Given the description of an element on the screen output the (x, y) to click on. 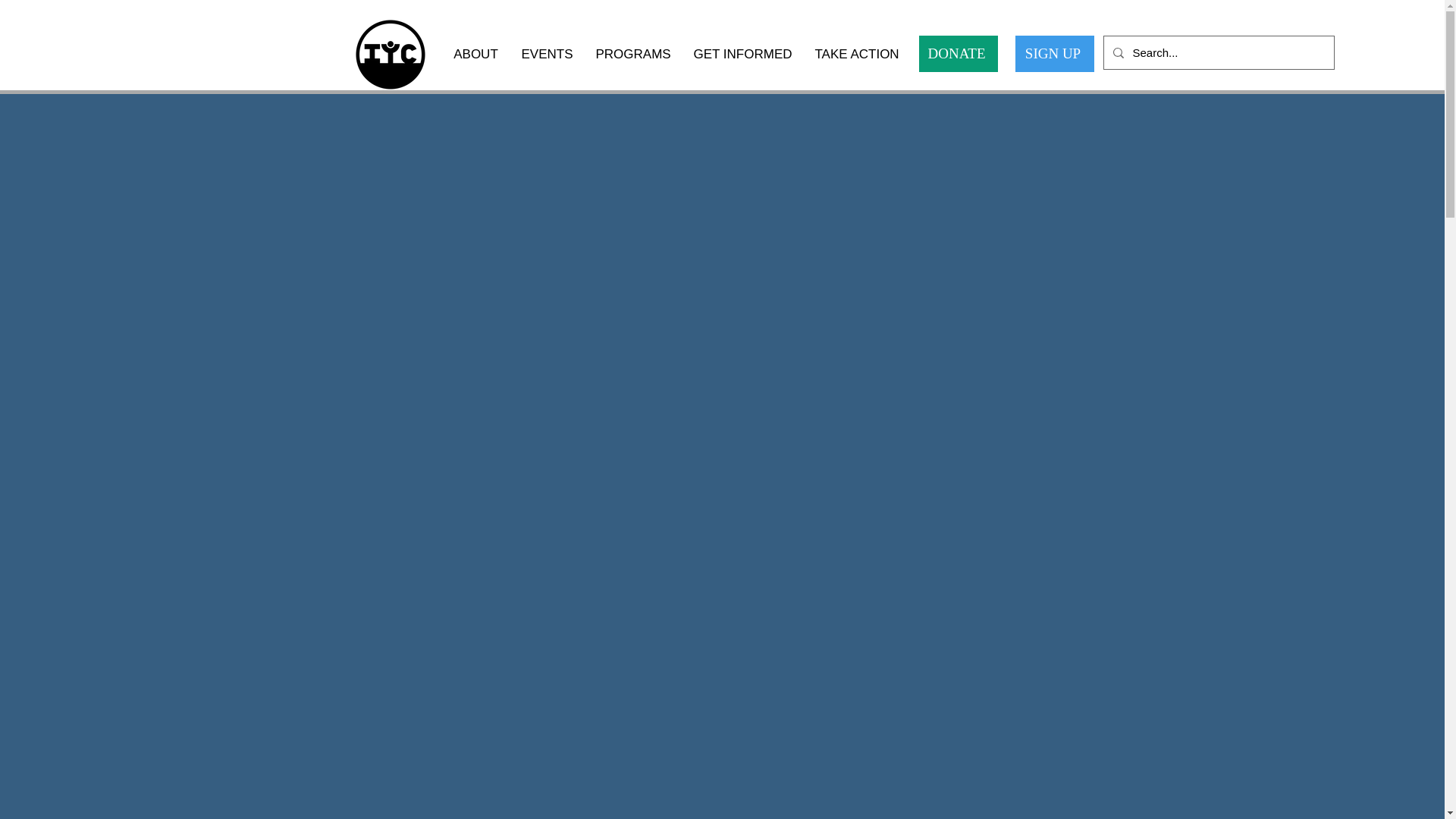
SIGN UP (1053, 54)
DONATE (957, 54)
TAKE ACTION (857, 54)
PROGRAMS (632, 54)
EVENTS (546, 54)
GET INFORMED (742, 54)
